Given the description of an element on the screen output the (x, y) to click on. 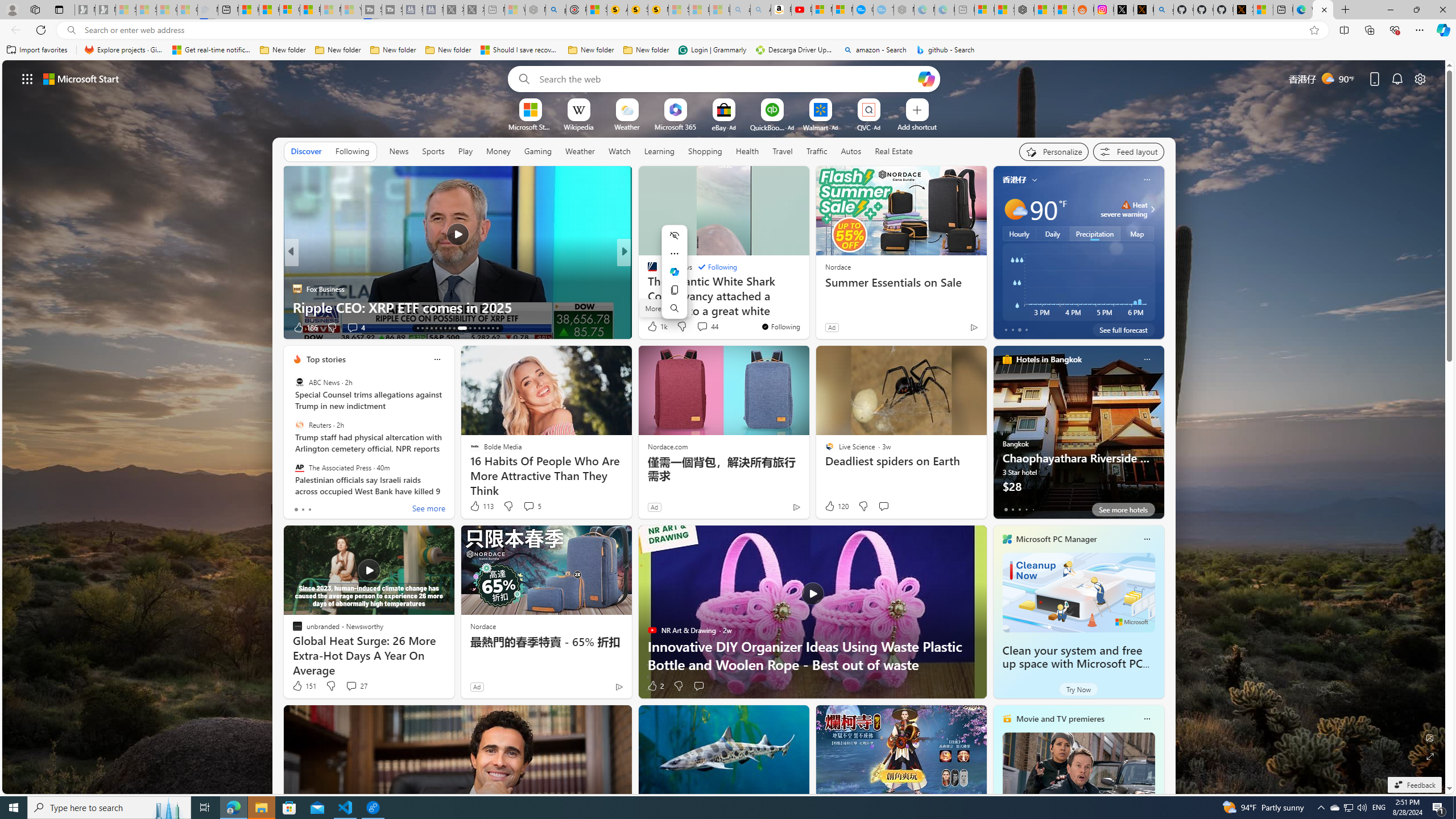
Settings and more (Alt+F) (1419, 29)
Edit Background (1430, 737)
Hide this story (774, 179)
Page settings (1420, 78)
Learning (659, 151)
App bar (728, 29)
See more hotels (1123, 509)
Nordace - Duffels (1024, 9)
Day 1: Arriving in Yemen (surreal to be here) - YouTube (801, 9)
News (398, 151)
View comments 4 Comment (702, 327)
